Given the description of an element on the screen output the (x, y) to click on. 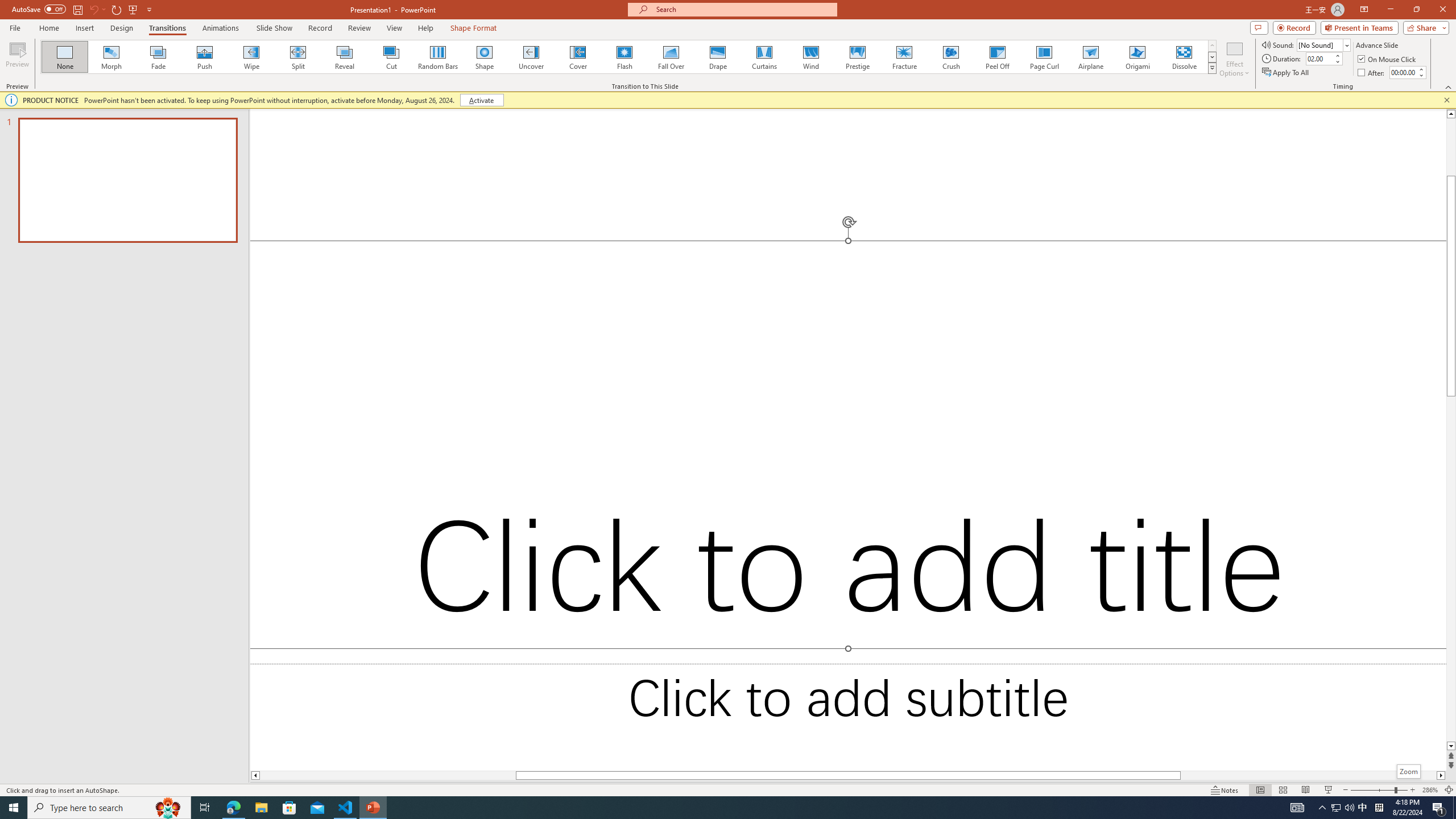
Push (205, 56)
Page Curl (1043, 56)
After (1372, 72)
Dissolve (1183, 56)
AutomationID: AnimationTransitionGallery (628, 56)
